Given the description of an element on the screen output the (x, y) to click on. 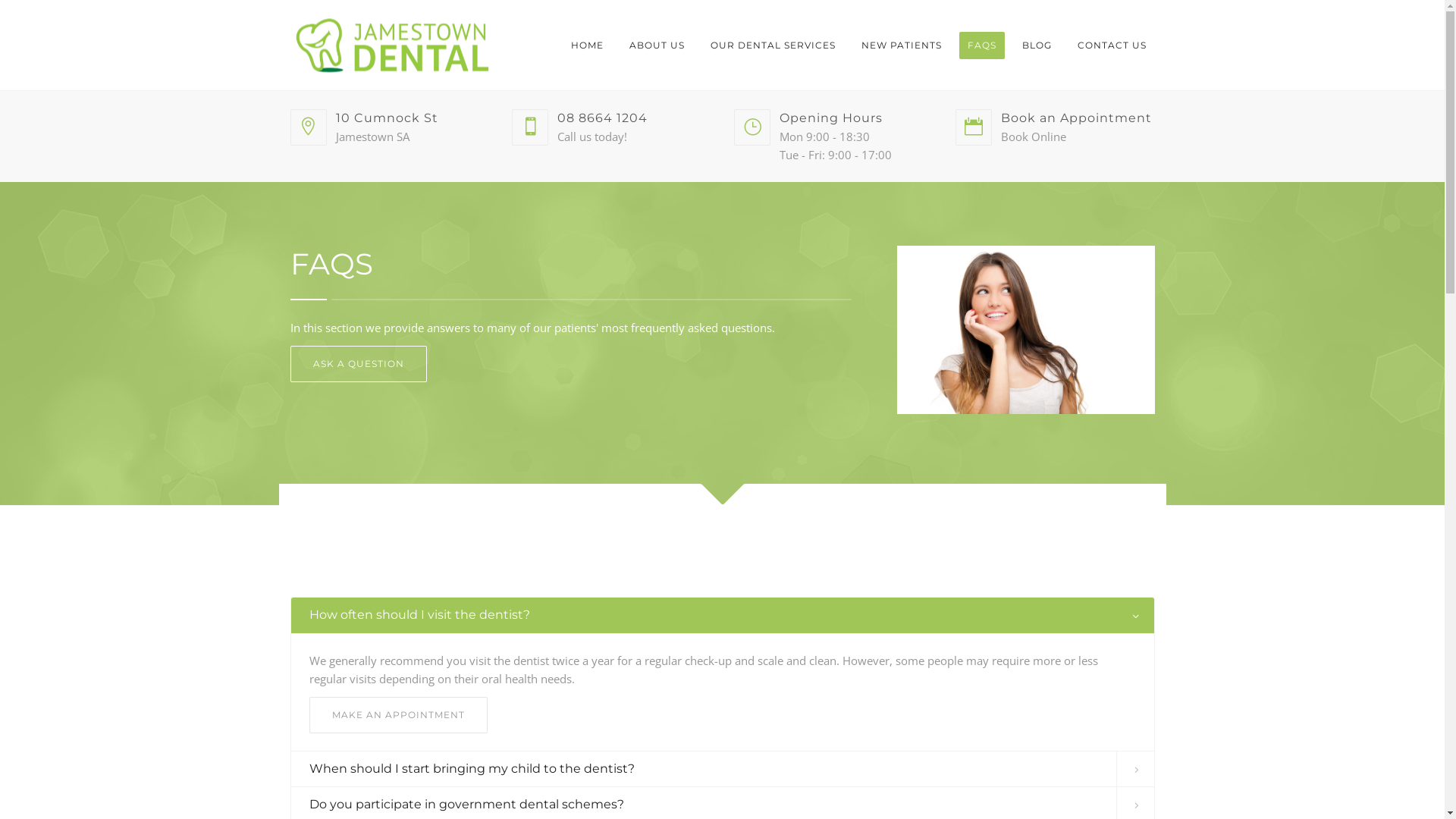
NEW PATIENTS Element type: text (900, 45)
HOME Element type: text (586, 45)
When should I start bringing my child to the dentist? Element type: text (722, 769)
FAQS Element type: text (981, 45)
ABOUT US Element type: text (656, 45)
BLOG Element type: text (1036, 45)
OUR DENTAL SERVICES Element type: text (773, 45)
How often should I visit the dentist? Element type: text (722, 615)
MAKE AN APPOINTMENT Element type: text (398, 714)
ASK A QUESTION Element type: text (357, 363)
CONTACT US Element type: text (1111, 45)
